Given the description of an element on the screen output the (x, y) to click on. 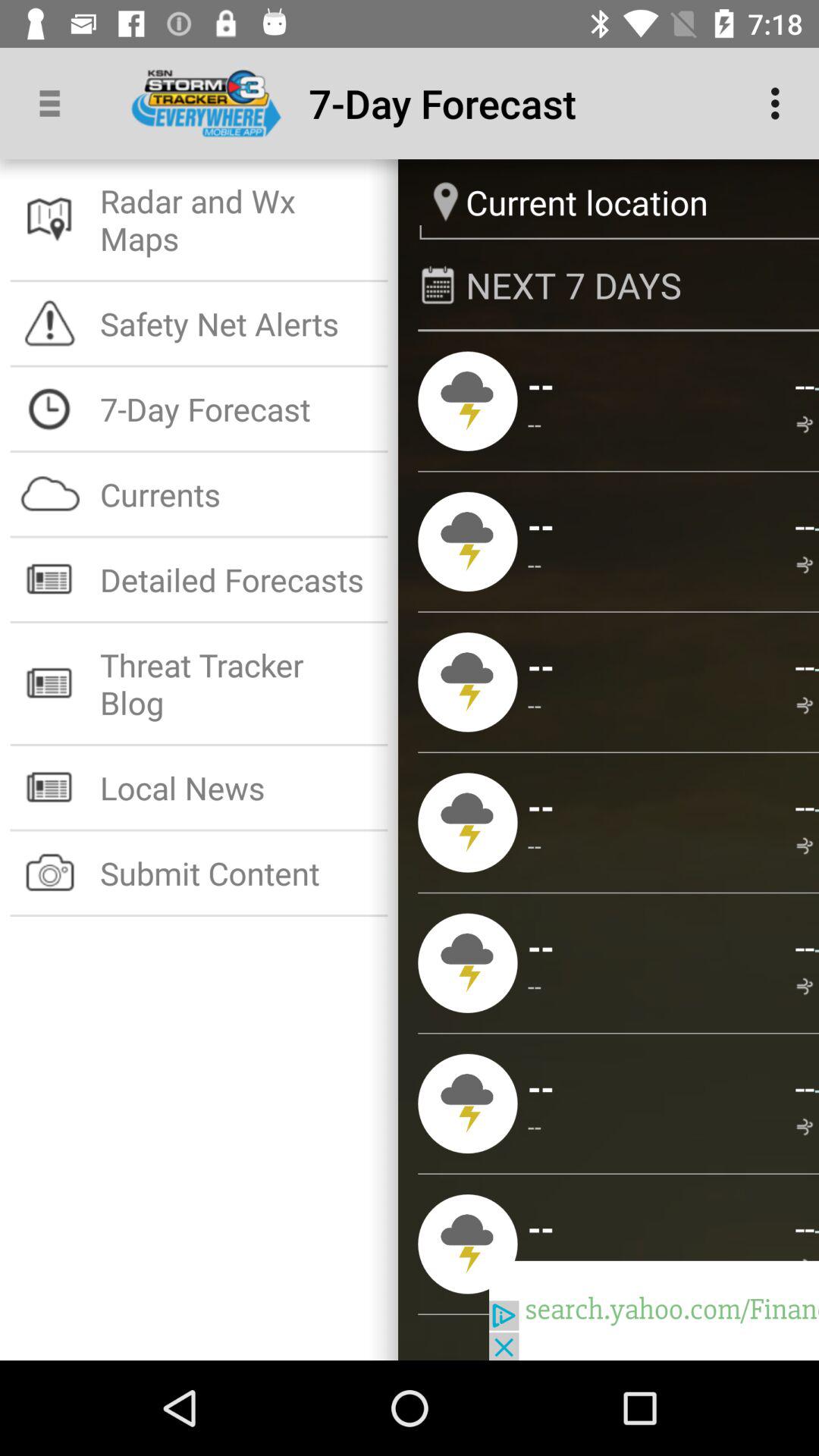
advertisement (654, 1310)
